Given the description of an element on the screen output the (x, y) to click on. 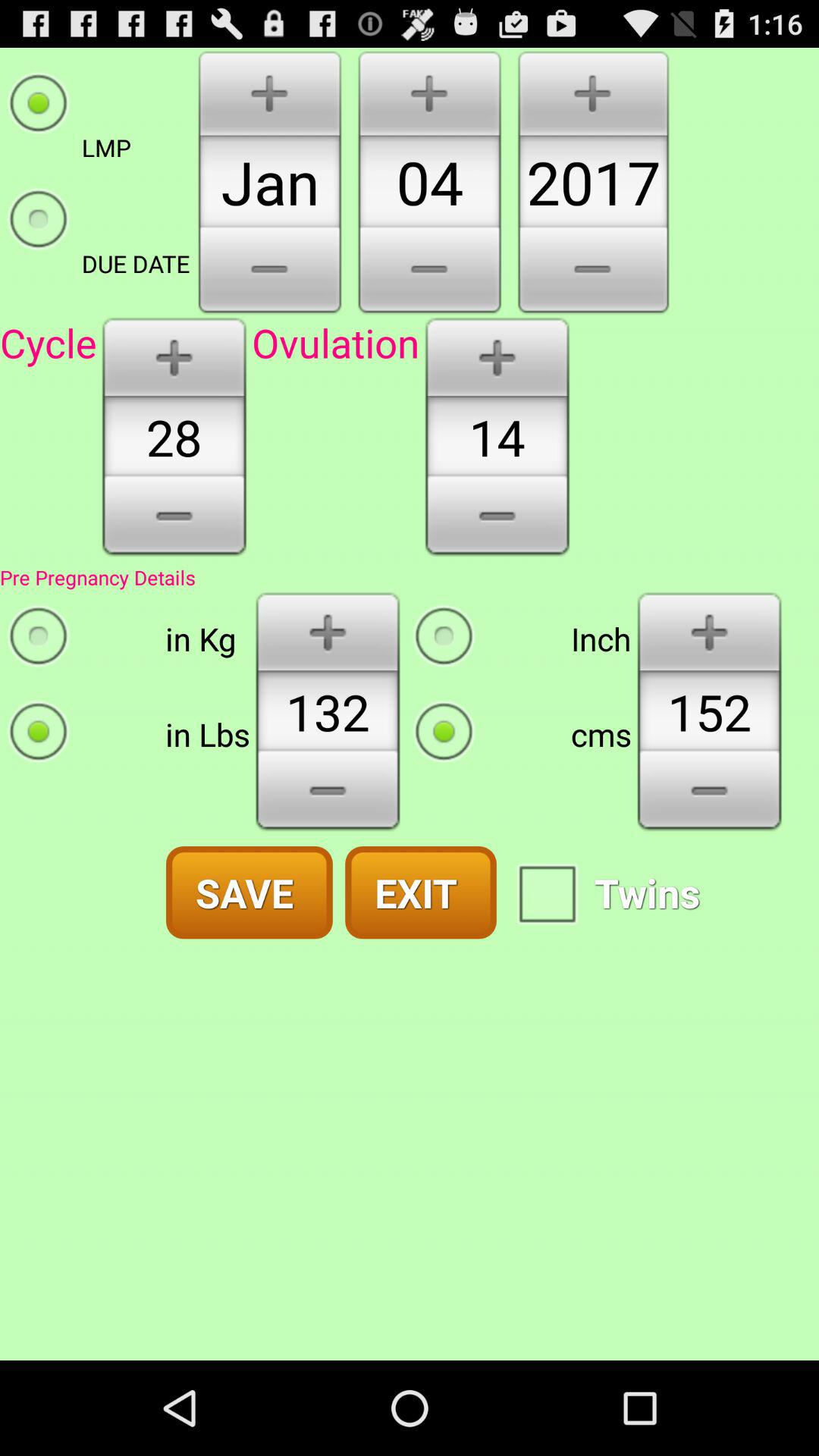
add one more number (709, 630)
